Given the description of an element on the screen output the (x, y) to click on. 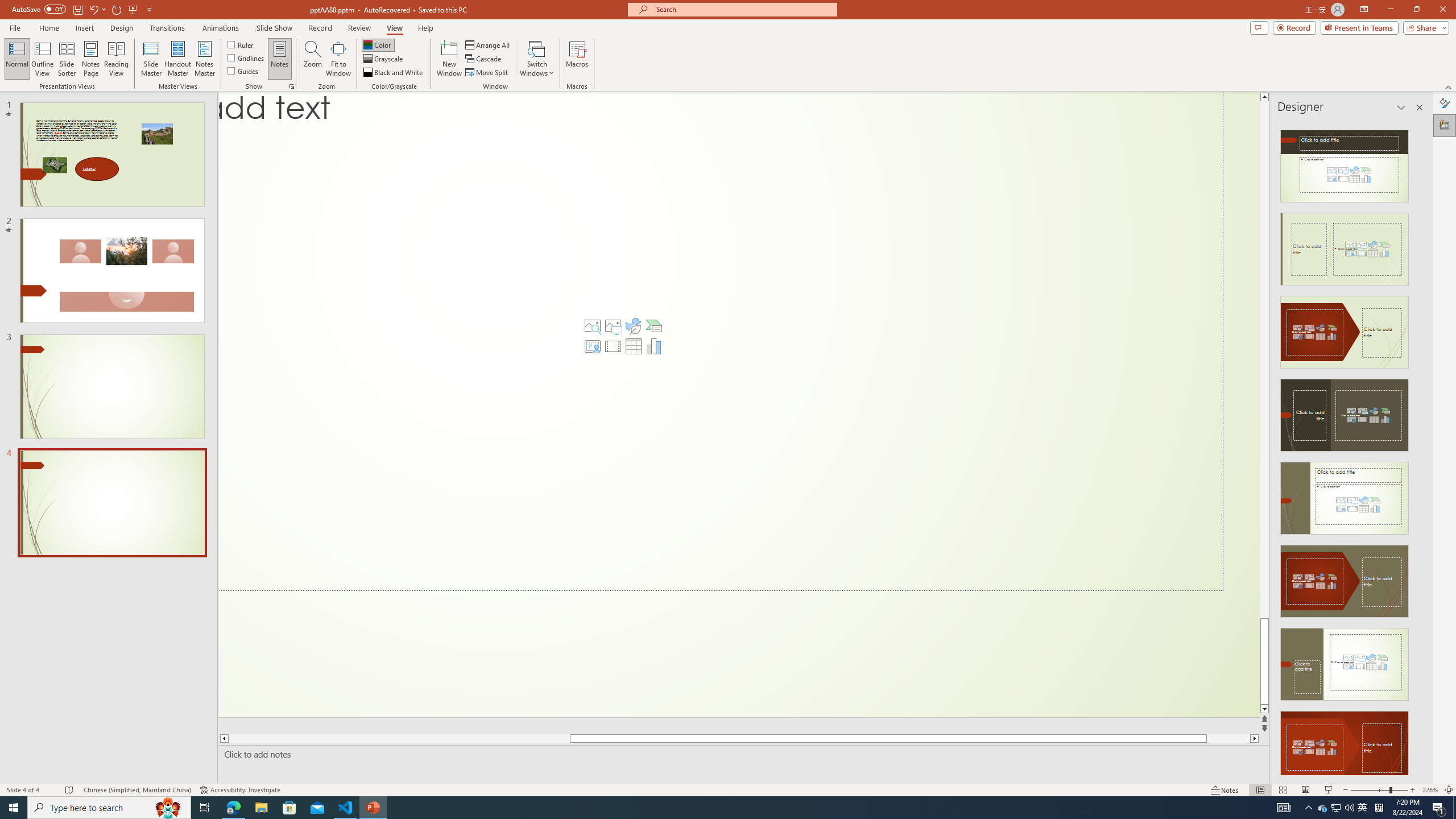
Insert a SmartArt Graphic (653, 325)
Class: NetUIScrollBar (1418, 447)
Notes Master (204, 58)
Insert an Icon (633, 325)
Fit to Window (338, 58)
Outline View (42, 58)
Content Placeholder (720, 341)
